Given the description of an element on the screen output the (x, y) to click on. 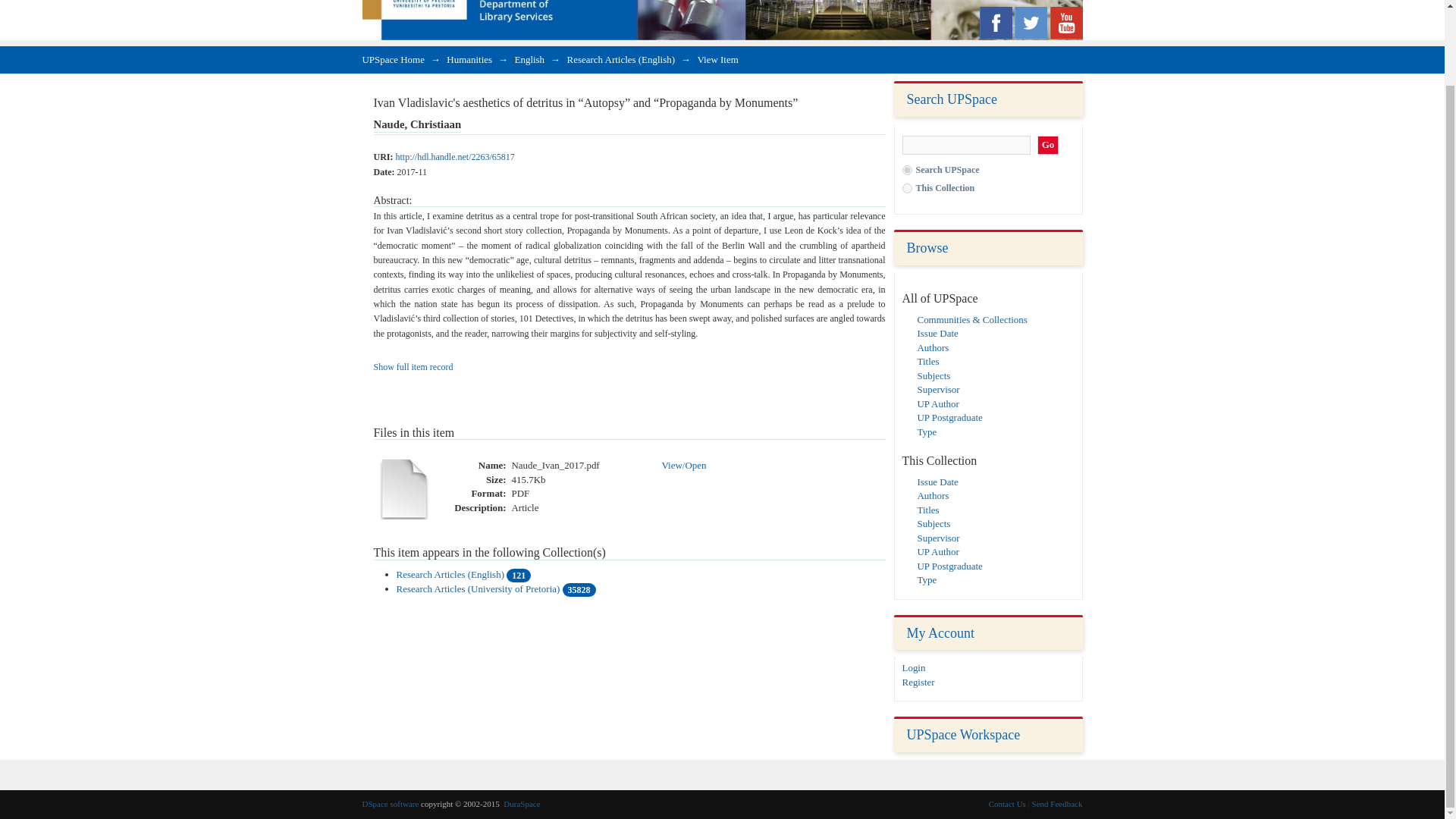
Type (927, 430)
Supervisor (938, 389)
UPSpace Workspace (963, 734)
DuraSpace (521, 803)
Login (914, 667)
UPSpace Home (393, 59)
Register (918, 681)
Type (927, 579)
UP Postgraduate (949, 565)
UP Postgraduate (949, 417)
